Given the description of an element on the screen output the (x, y) to click on. 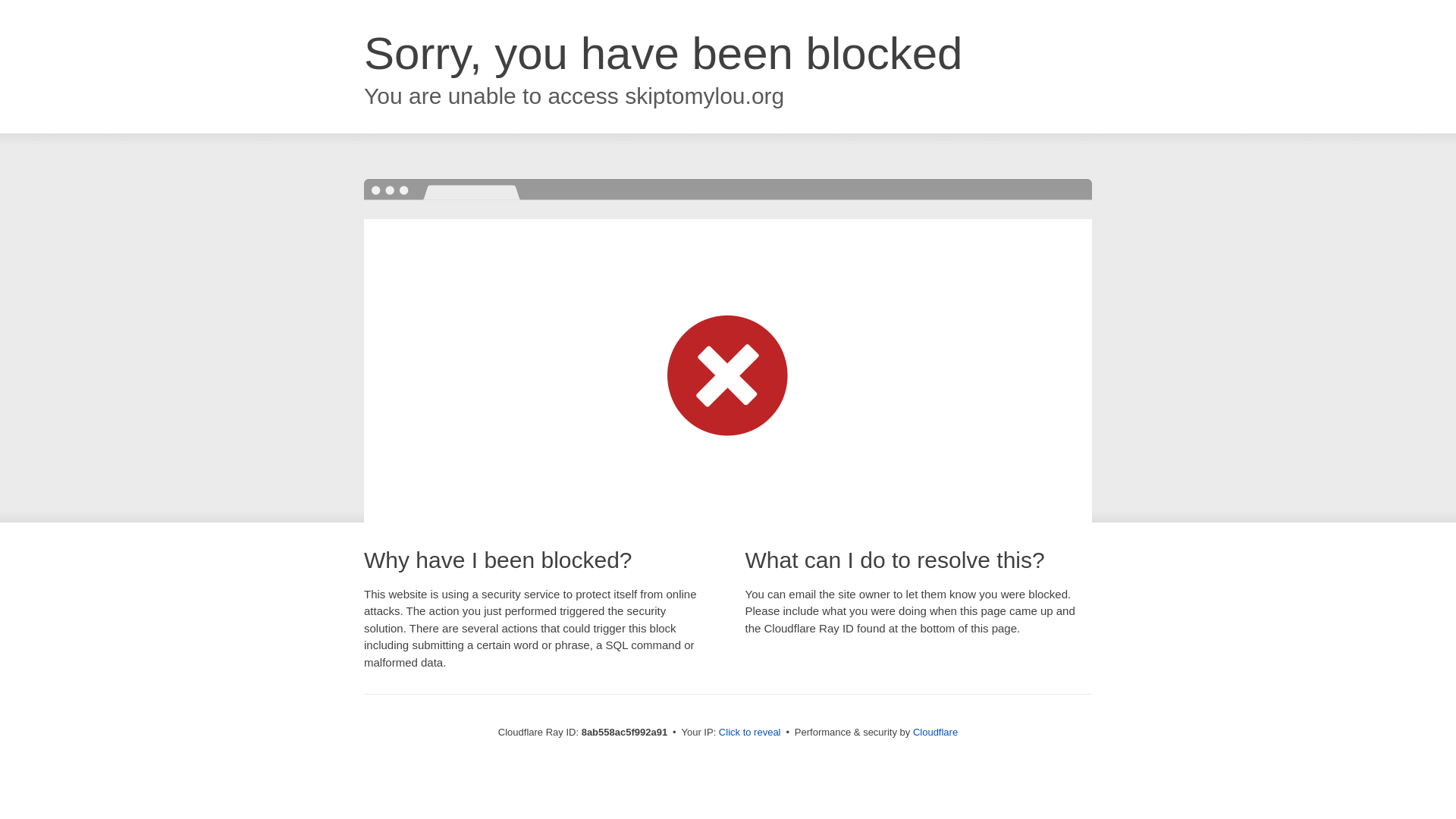
Click to reveal (749, 732)
Cloudflare (935, 731)
